Given the description of an element on the screen output the (x, y) to click on. 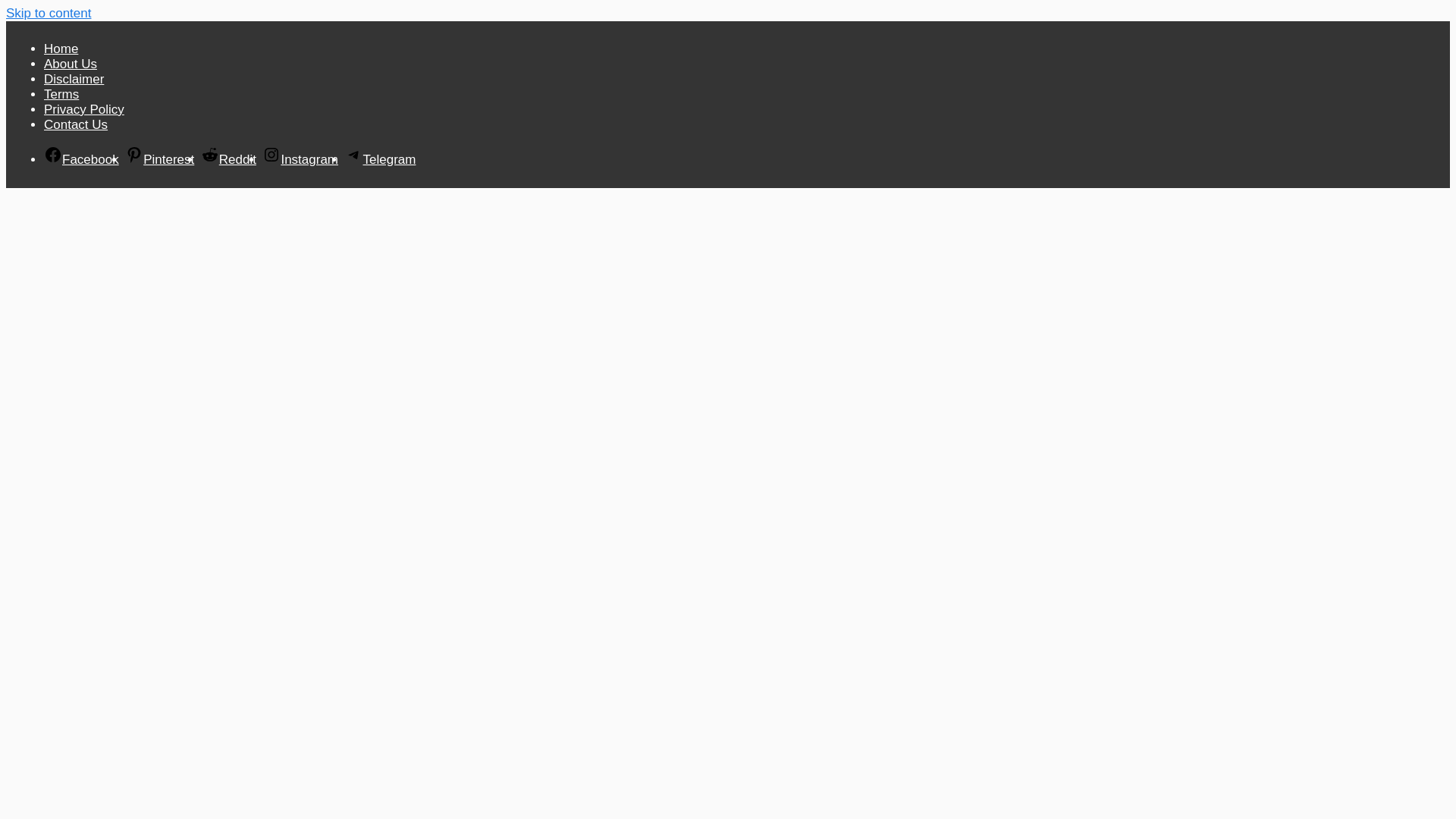
About Us (70, 63)
Telegram (378, 159)
Skip to content (47, 12)
Skip to content (47, 12)
Pinterest (159, 159)
Terms (60, 93)
Reddit (228, 159)
Disclaimer (73, 79)
Home (60, 48)
Privacy Policy (83, 109)
